Given the description of an element on the screen output the (x, y) to click on. 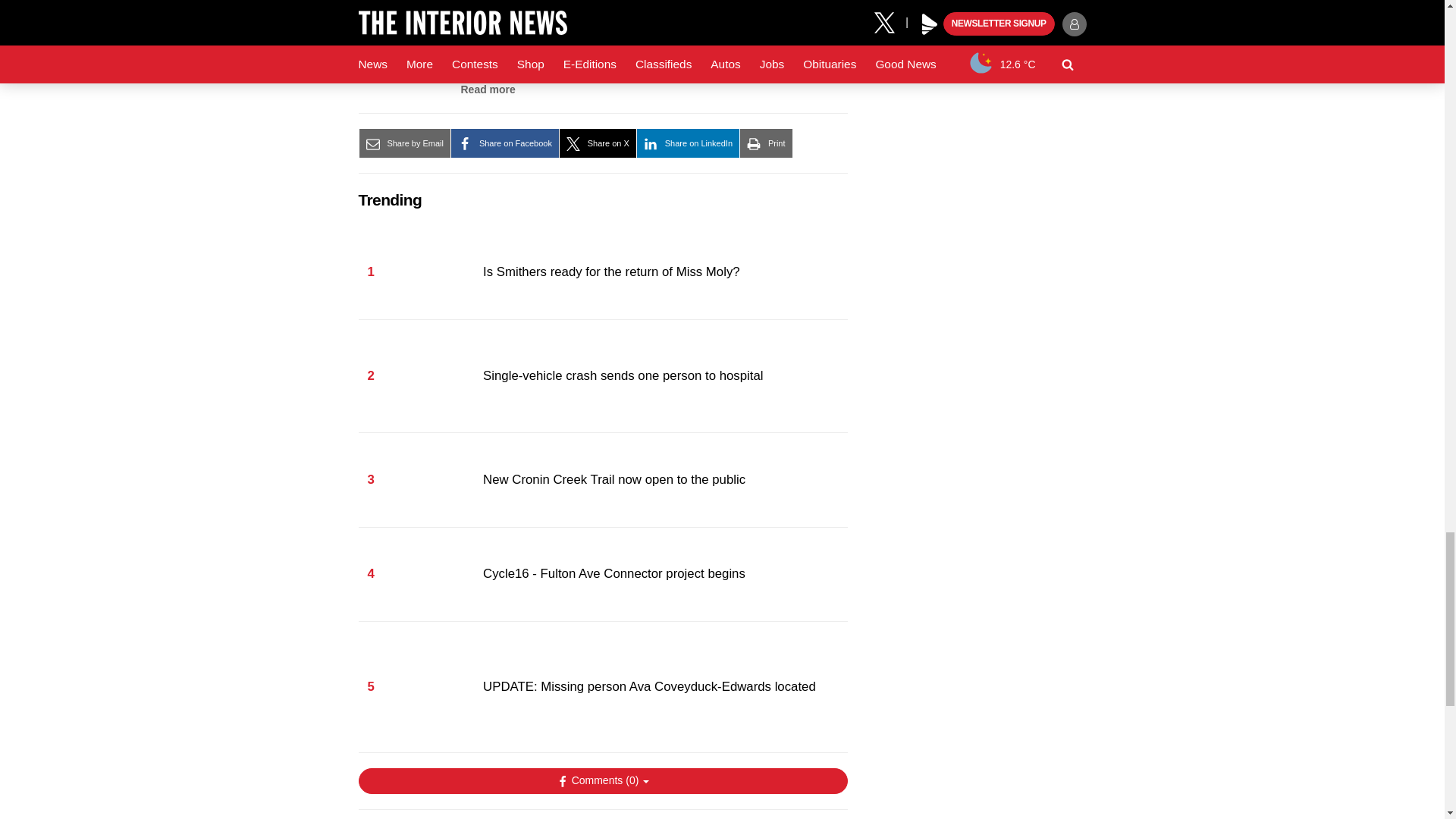
Show Comments (602, 780)
